Given the description of an element on the screen output the (x, y) to click on. 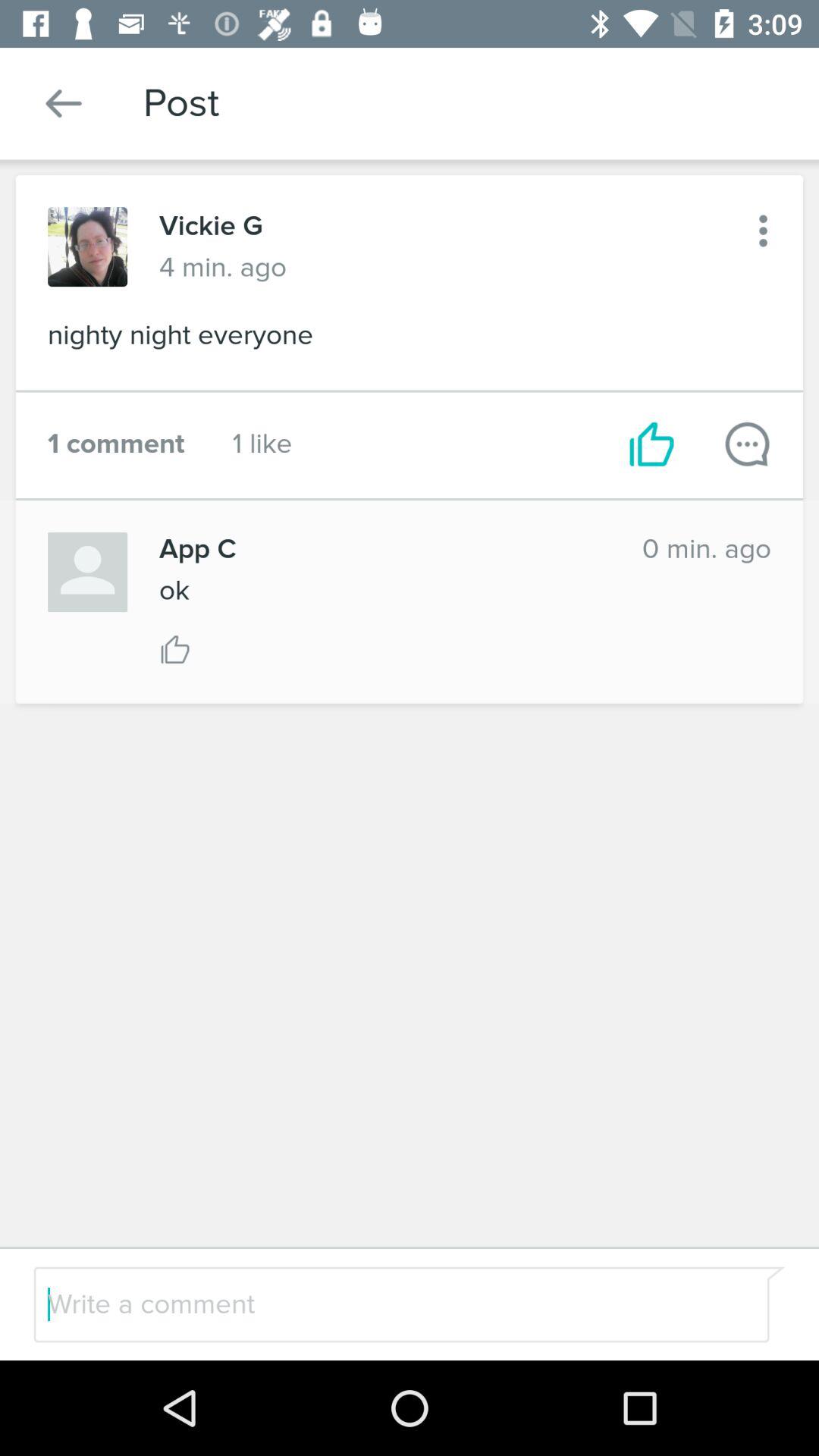
jump to the nighty night everyone item (409, 340)
